Given the description of an element on the screen output the (x, y) to click on. 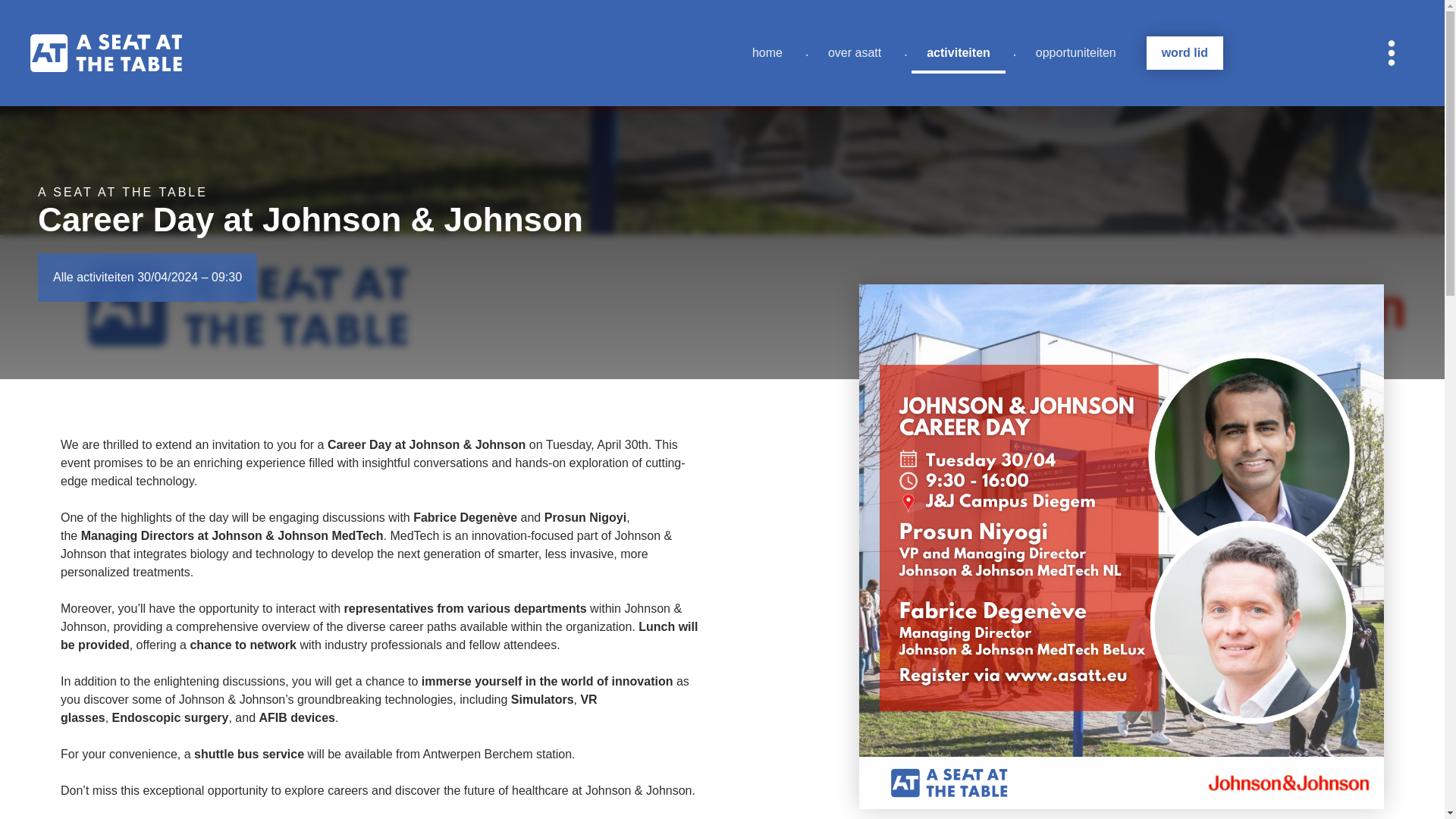
over asatt (854, 52)
opportuniteiten (1075, 52)
home (766, 52)
word lid (1185, 52)
activiteiten (958, 52)
